Given the description of an element on the screen output the (x, y) to click on. 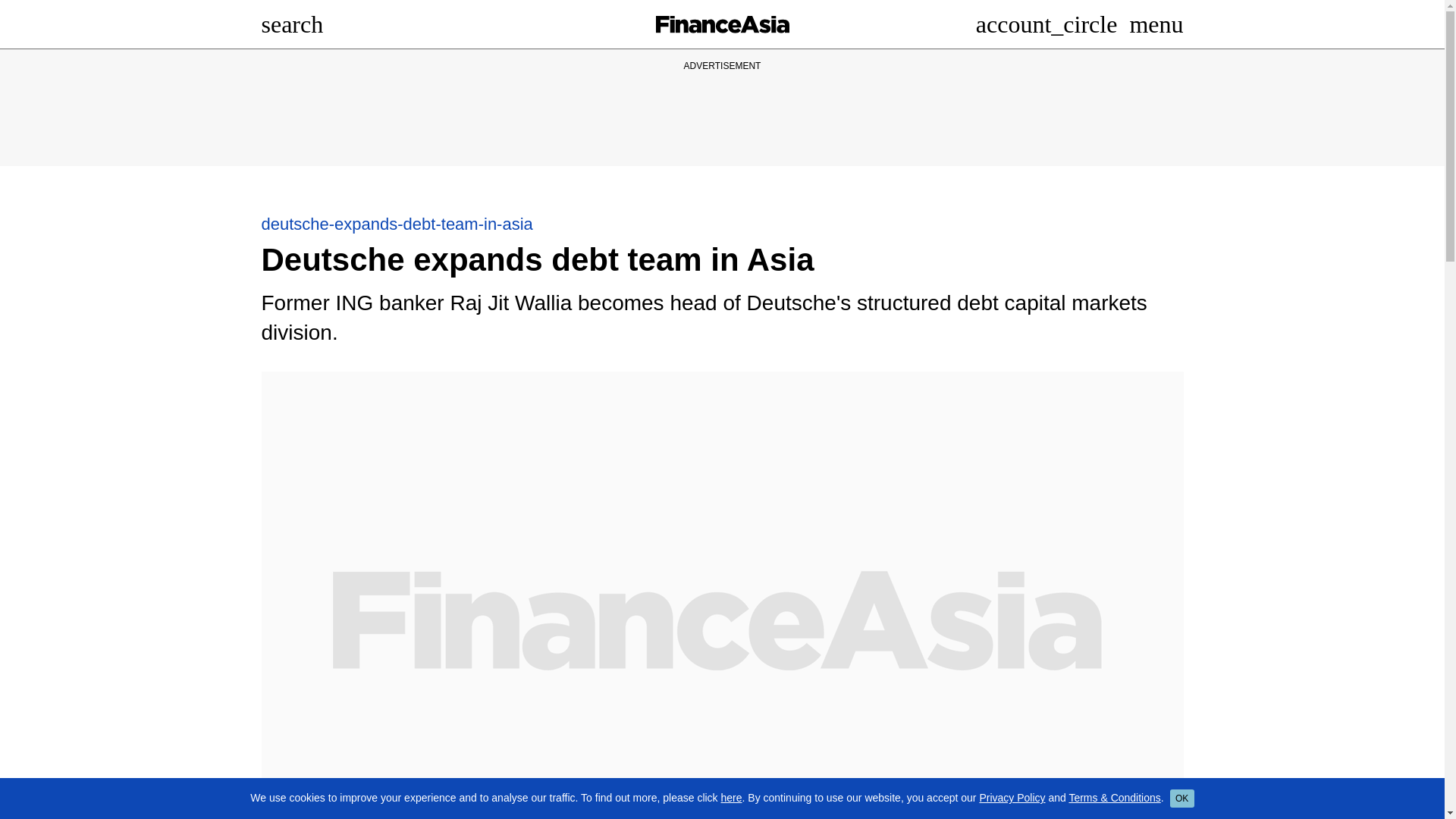
Sign In (1046, 24)
OK (1181, 798)
3rd party ad content (721, 107)
Privacy Policy (1011, 797)
Search (291, 24)
Menu (1155, 24)
here (730, 797)
